Given the description of an element on the screen output the (x, y) to click on. 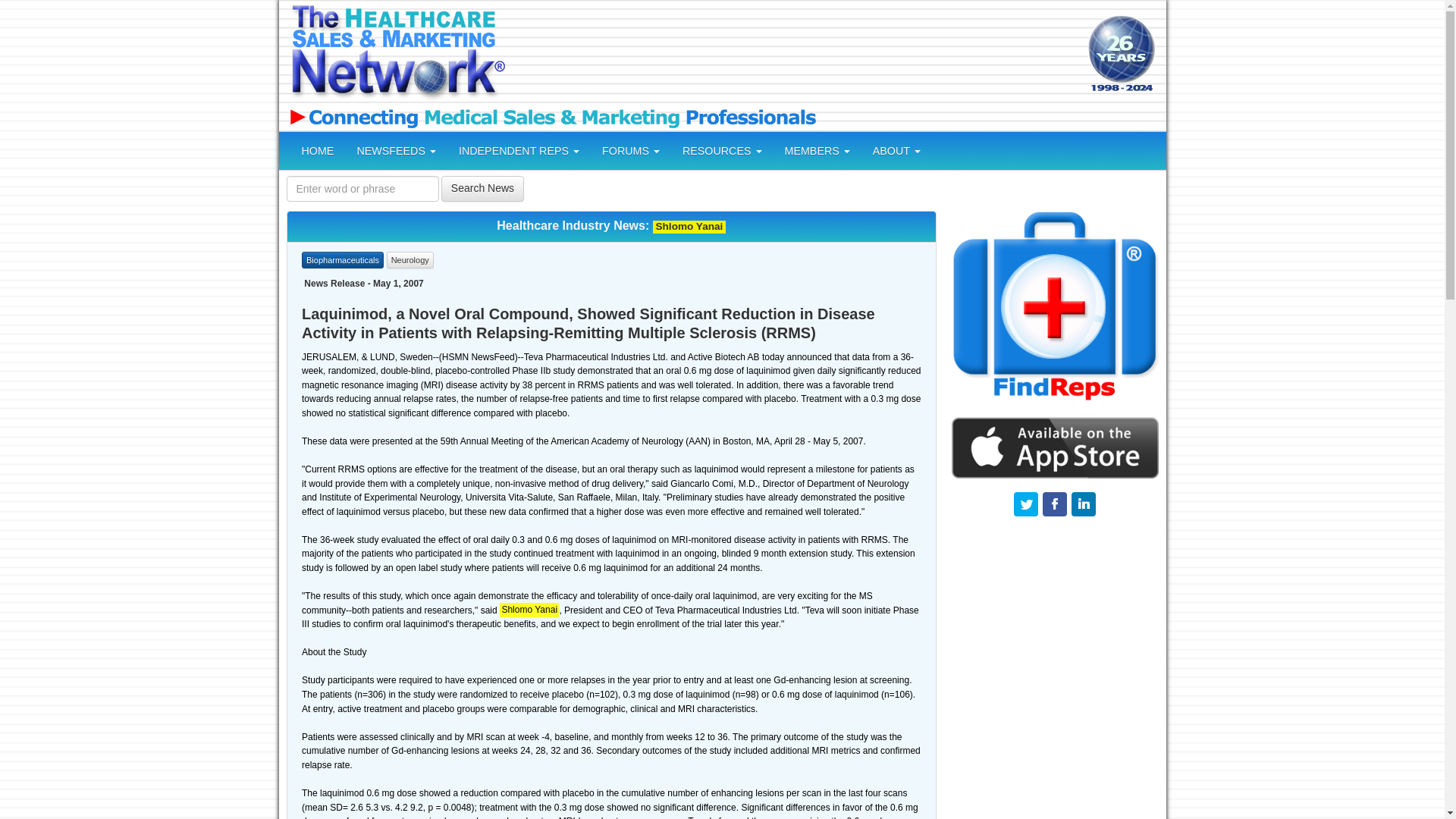
Search News (482, 188)
Advertisement (794, 55)
HOME (317, 150)
RESOURCES  (722, 150)
INDEPENDENT REPS  (518, 150)
NEWSFEEDS  (395, 150)
FORUMS  (631, 150)
